Given the description of an element on the screen output the (x, y) to click on. 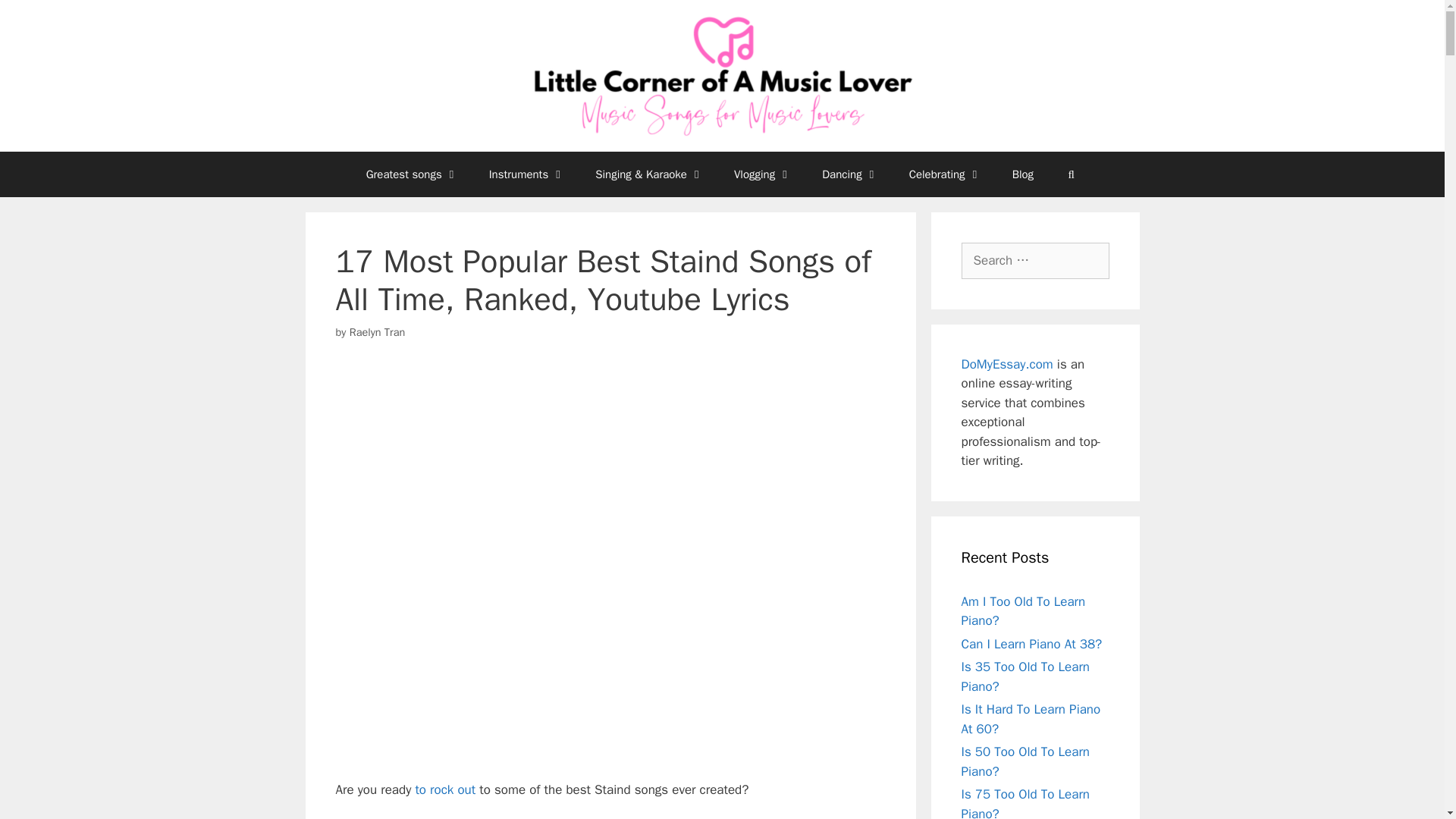
Greatest songs (412, 174)
Instruments (527, 174)
View all posts by Raelyn Tran (377, 332)
Vlogging (762, 174)
